Given the description of an element on the screen output the (x, y) to click on. 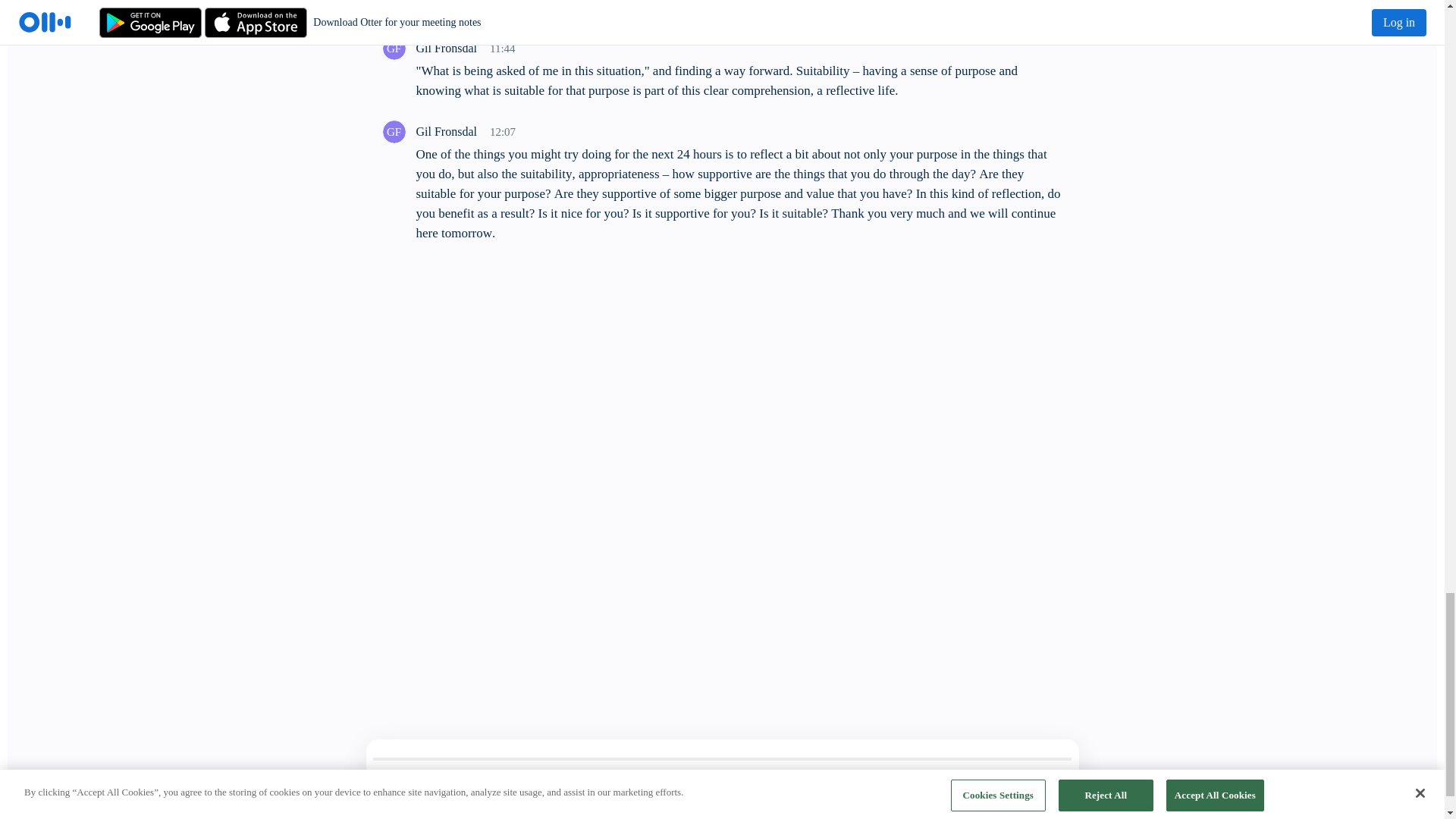
GF (393, 131)
GF (393, 48)
Gil Fronsdal (392, 47)
Gil Fronsdal (392, 131)
